Given the description of an element on the screen output the (x, y) to click on. 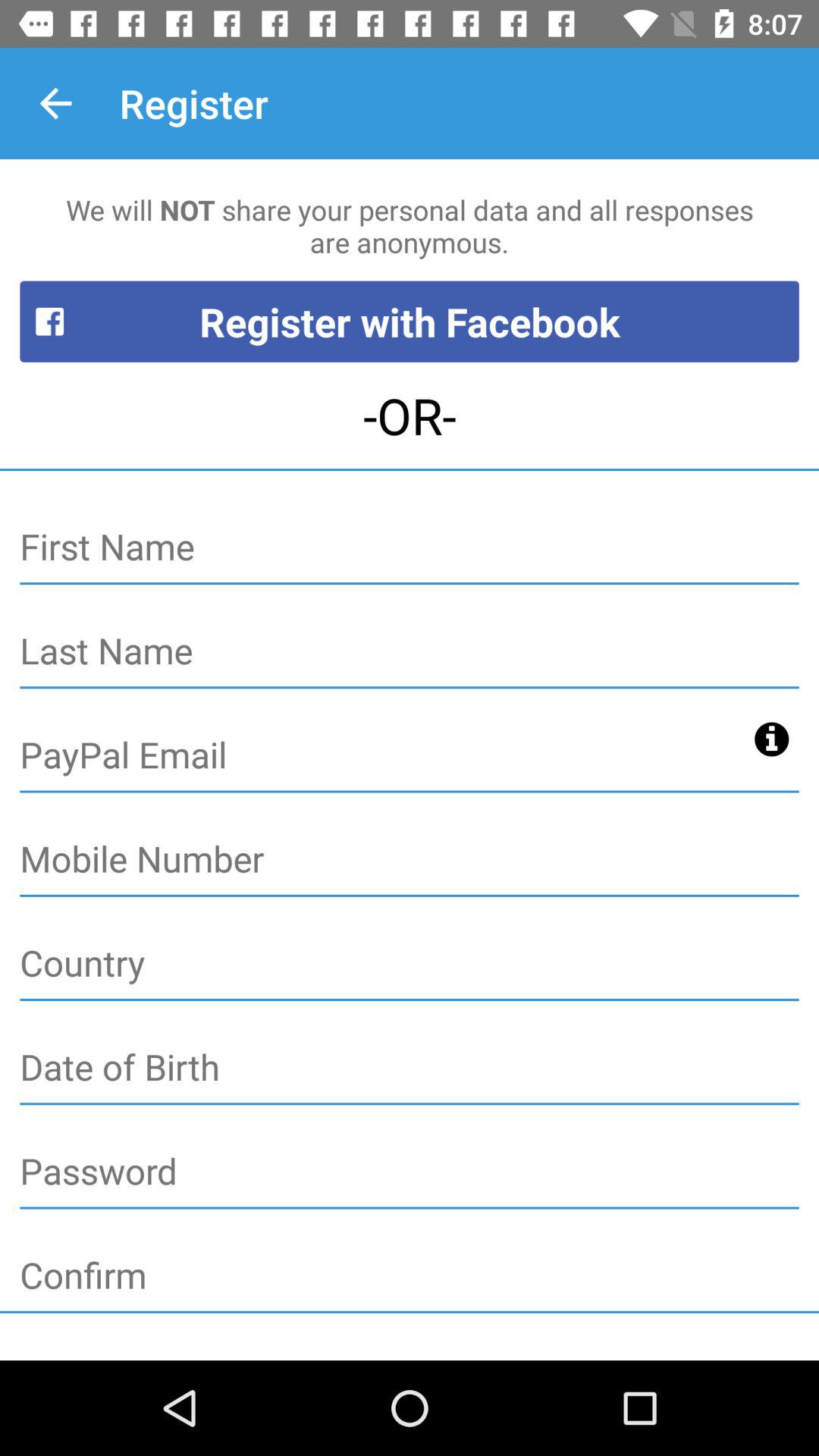
click icon below we will not icon (409, 321)
